Given the description of an element on the screen output the (x, y) to click on. 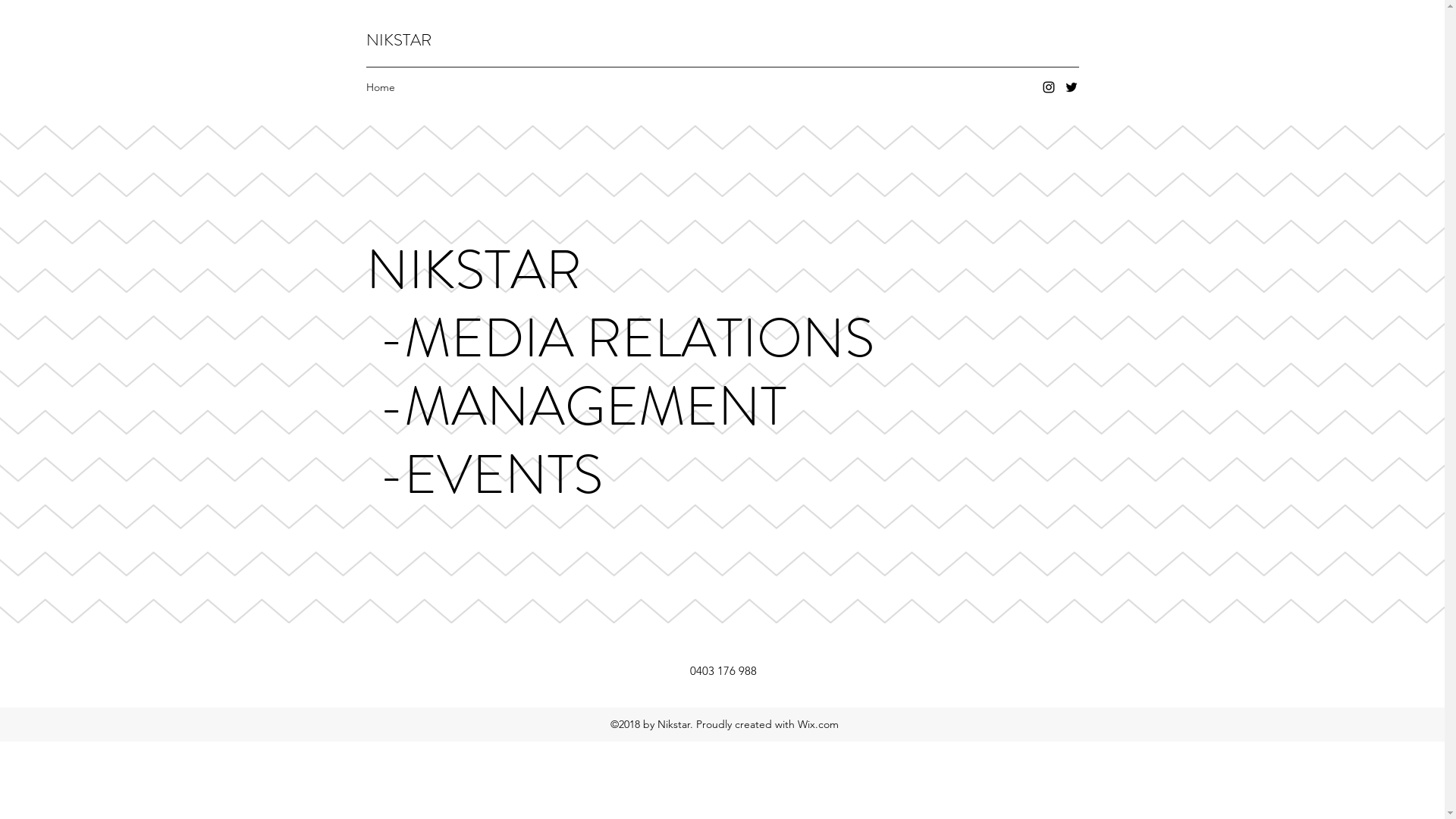
NIKSTAR Element type: text (397, 39)
Home Element type: text (379, 86)
